Given the description of an element on the screen output the (x, y) to click on. 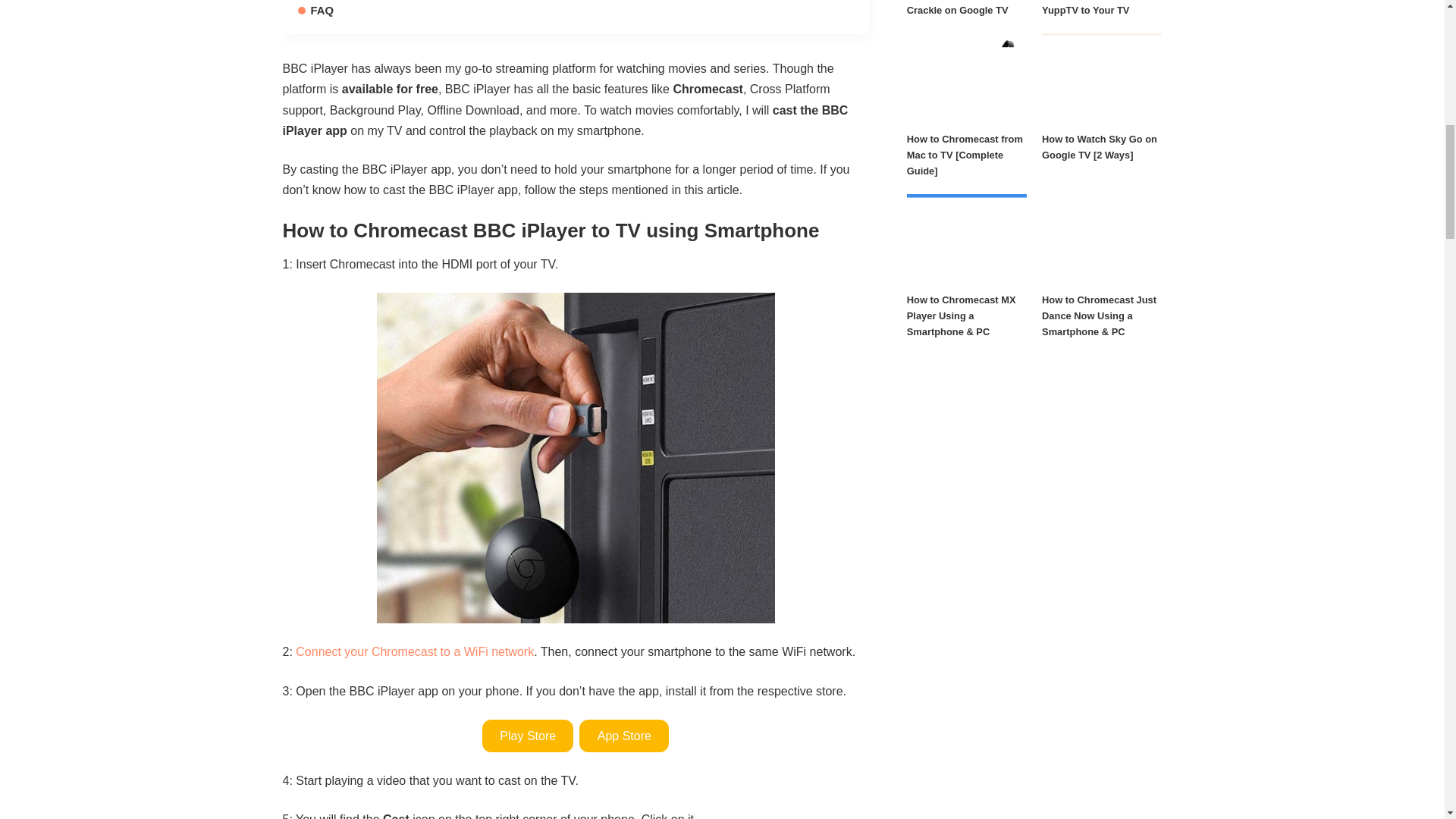
App Store (623, 735)
Play Store (527, 735)
Connect your Chromecast to a WiFi network (414, 651)
FAQ (315, 10)
